Given the description of an element on the screen output the (x, y) to click on. 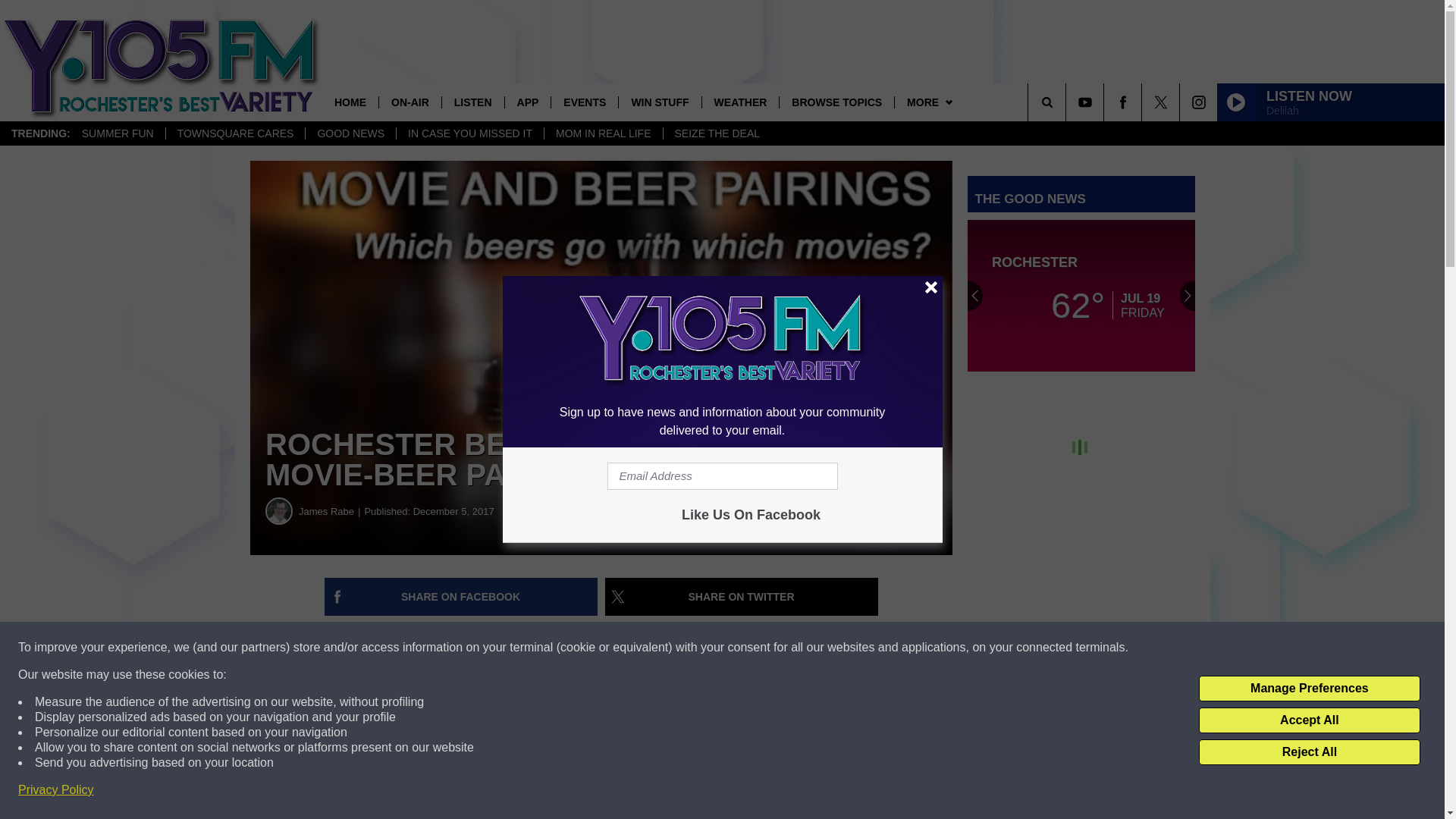
LISTEN (472, 102)
Accept All (1309, 720)
EVENTS (583, 102)
WIN STUFF (658, 102)
SEARCH (1068, 102)
SUMMER FUN (117, 133)
Email Address (722, 475)
Share on Facebook (460, 596)
Share on Twitter (741, 596)
Reject All (1309, 751)
TOWNSQUARE CARES (235, 133)
MOM IN REAL LIFE (602, 133)
Privacy Policy (55, 789)
GOOD NEWS (350, 133)
Rochester Weather (1081, 295)
